Given the description of an element on the screen output the (x, y) to click on. 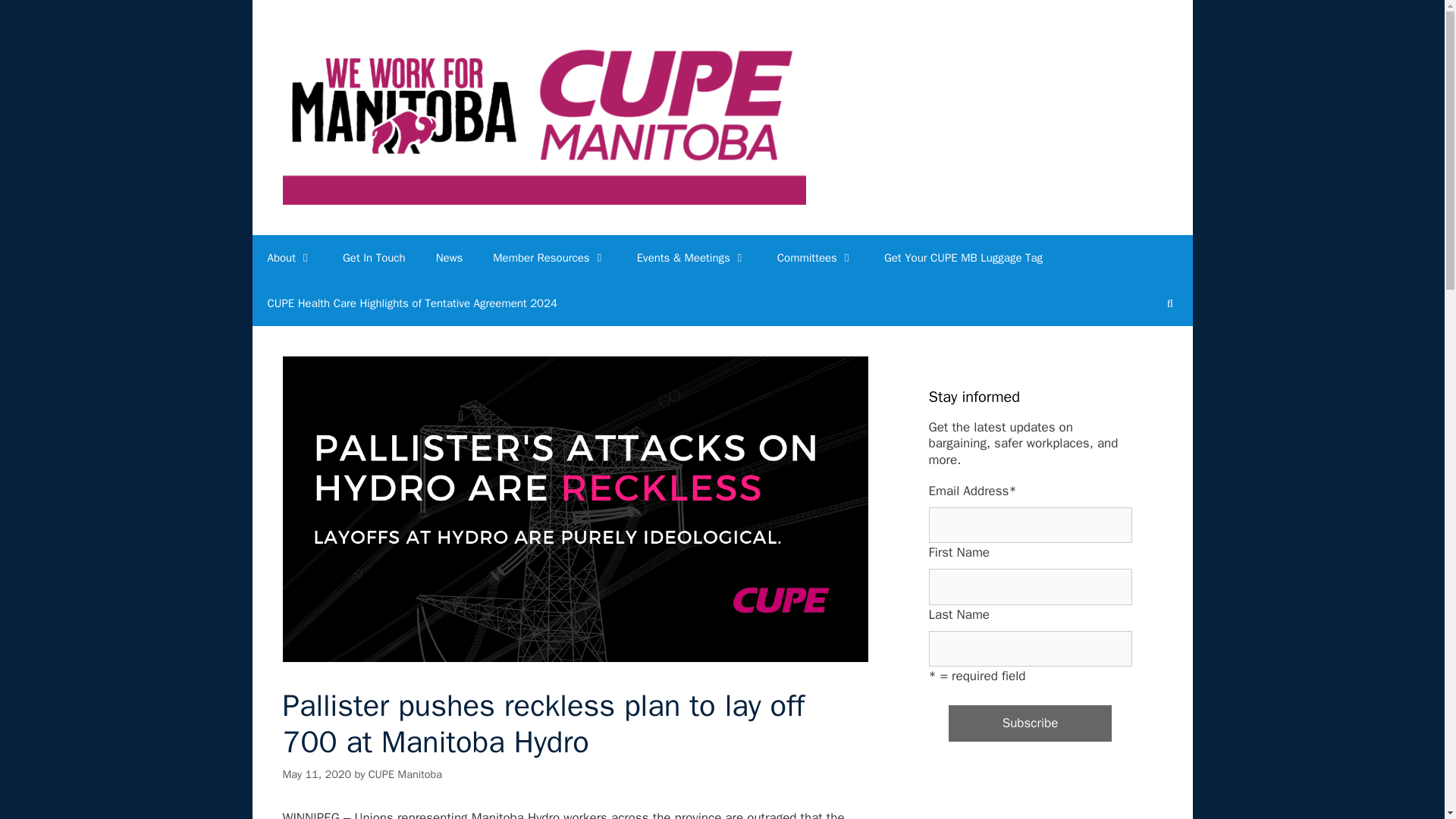
CUPE Manitoba (543, 117)
News (449, 257)
Get In Touch (373, 257)
Committees (815, 257)
Member Resources (549, 257)
View all posts by CUPE Manitoba (405, 774)
About (288, 257)
Subscribe (1029, 723)
12:17 pm (316, 774)
CUPE Manitoba (543, 116)
